Given the description of an element on the screen output the (x, y) to click on. 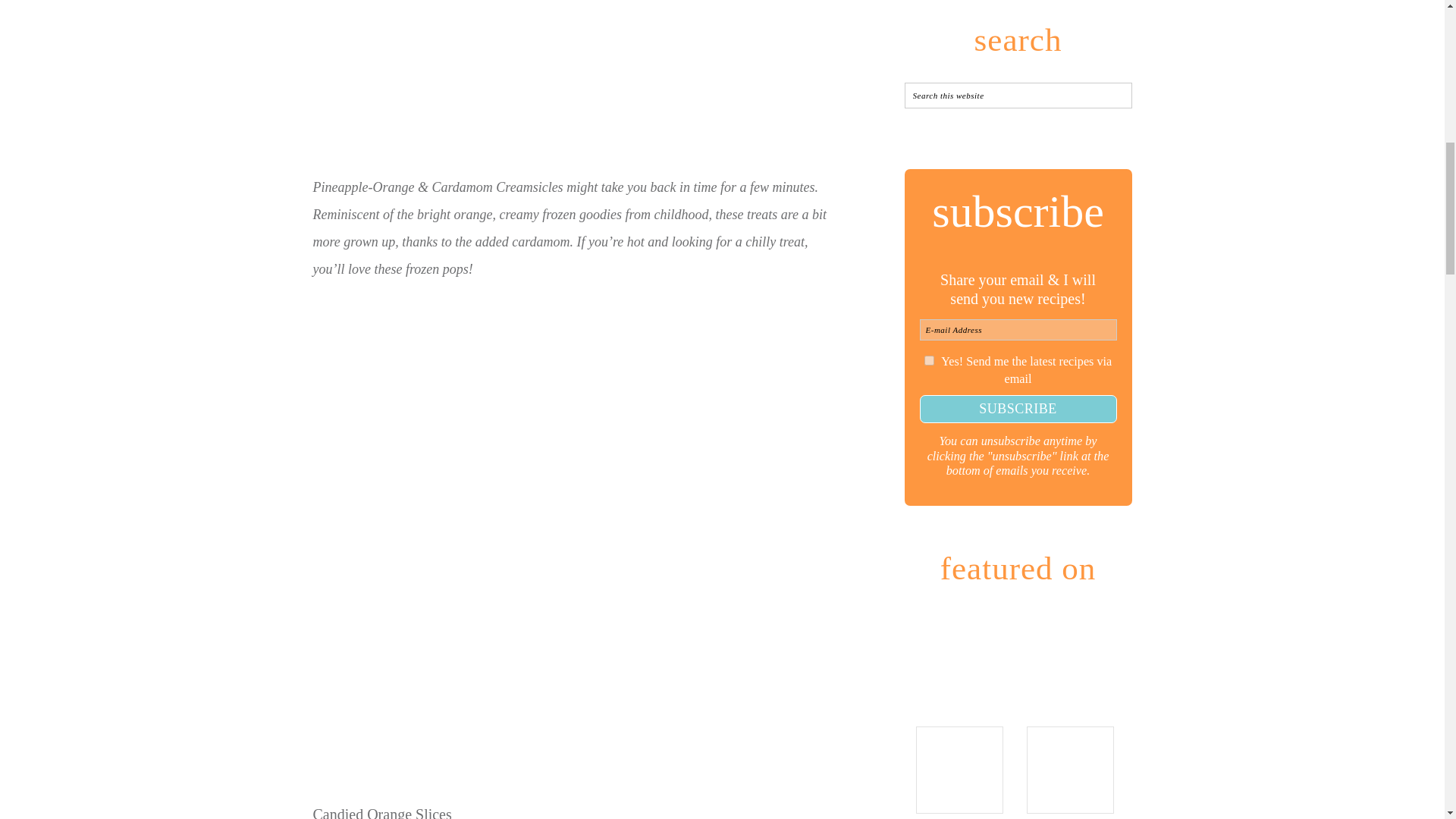
Subscribe (1017, 408)
1 (929, 360)
Candied Orange Slices (382, 812)
